Given the description of an element on the screen output the (x, y) to click on. 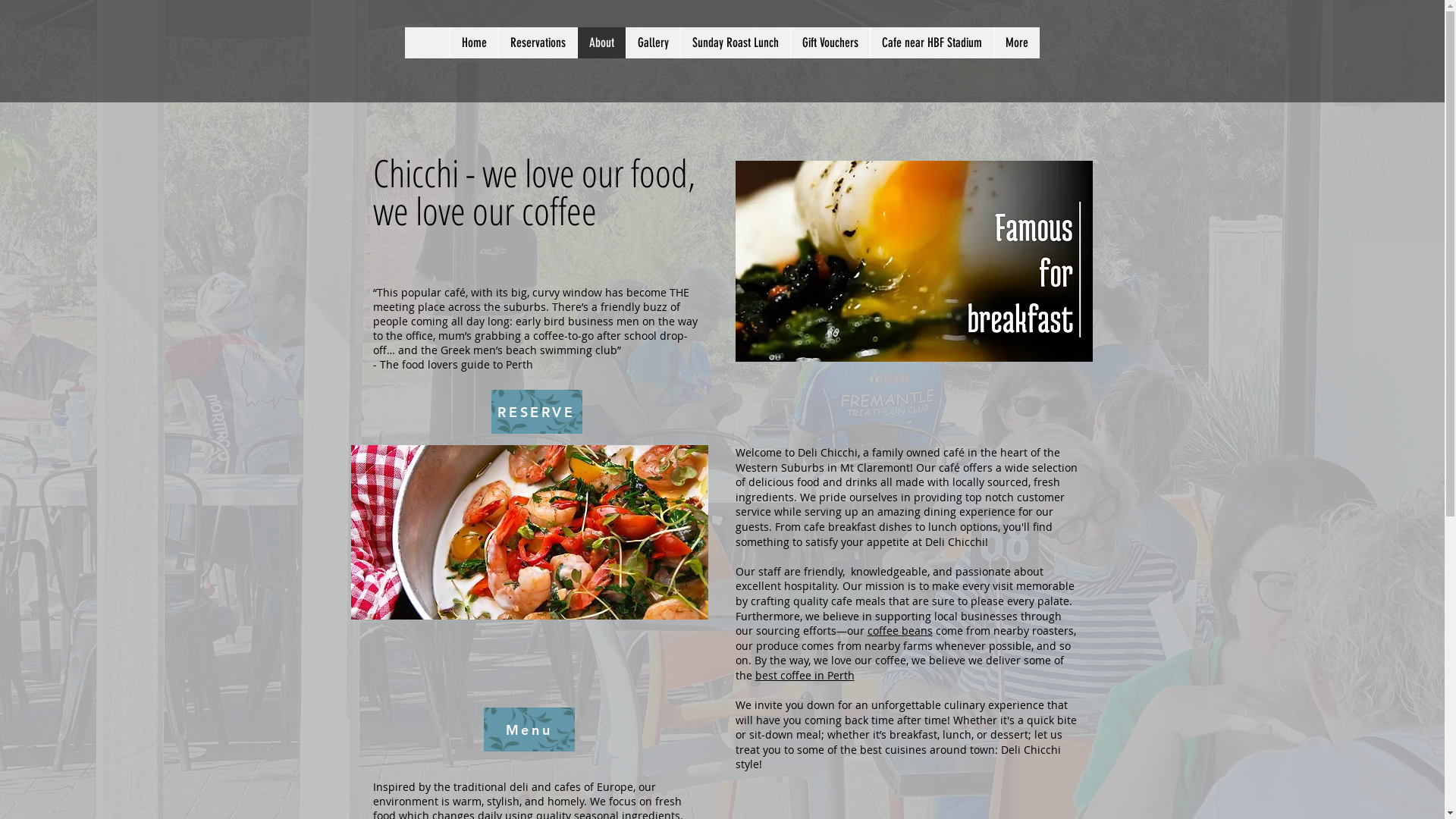
best coffee in Perth Element type: text (804, 675)
only fresh free rage eggs for breakfast Element type: hover (913, 260)
Gallery Element type: text (651, 42)
Menu Element type: text (528, 729)
Reservations Element type: text (536, 42)
fresh ingredients for lunch in Claremont Element type: hover (528, 532)
coffee beans Element type: text (899, 630)
Sunday Roast Lunch Element type: text (734, 42)
Home Element type: text (472, 42)
Gift Vouchers Element type: text (829, 42)
About Element type: text (600, 42)
RESERVE Element type: text (536, 411)
Cafe near HBF Stadium Element type: text (930, 42)
